Given the description of an element on the screen output the (x, y) to click on. 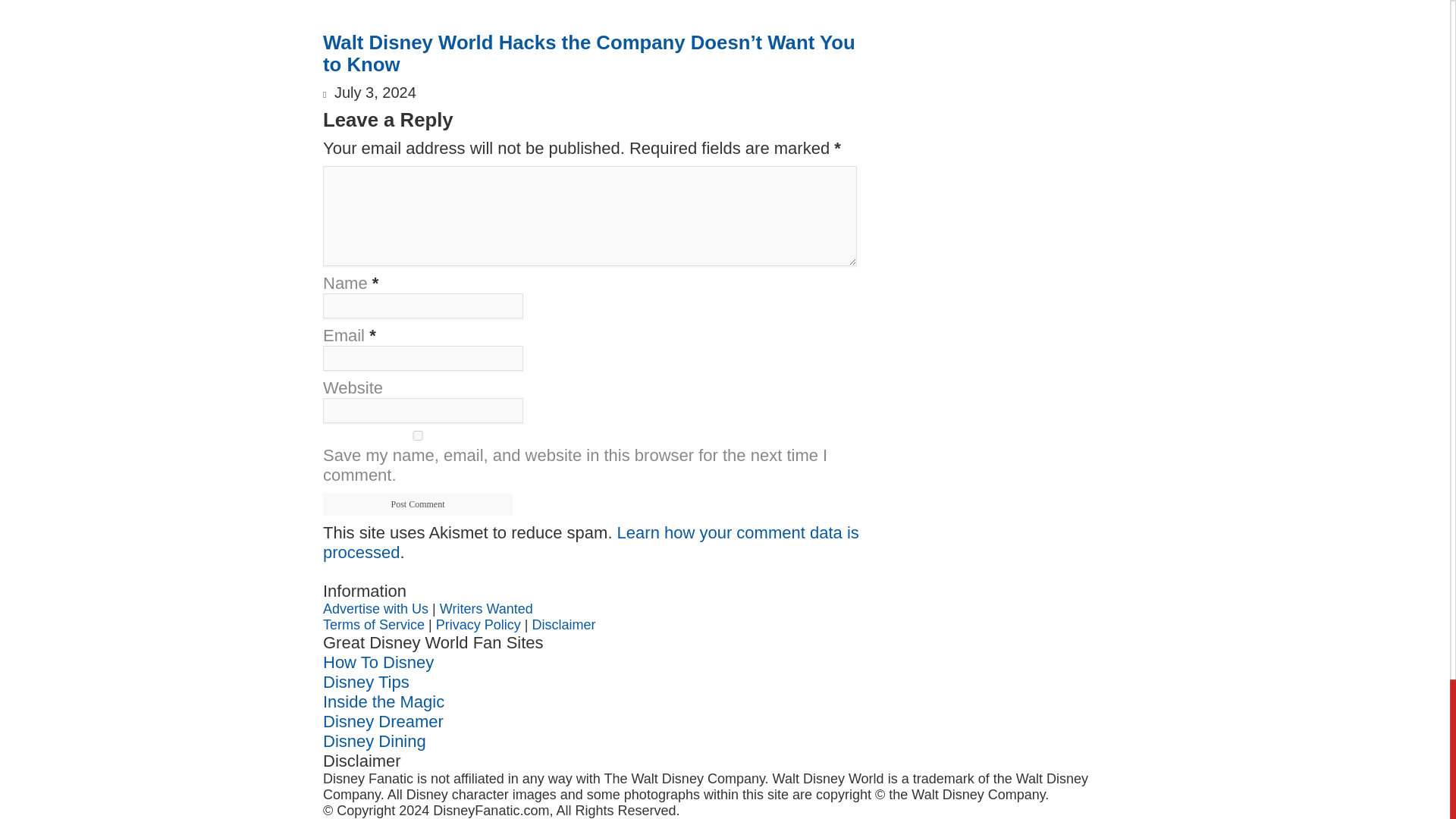
Learn how your comment data is processed (591, 542)
Post Comment (417, 504)
Post Comment (417, 504)
yes (417, 435)
